Given the description of an element on the screen output the (x, y) to click on. 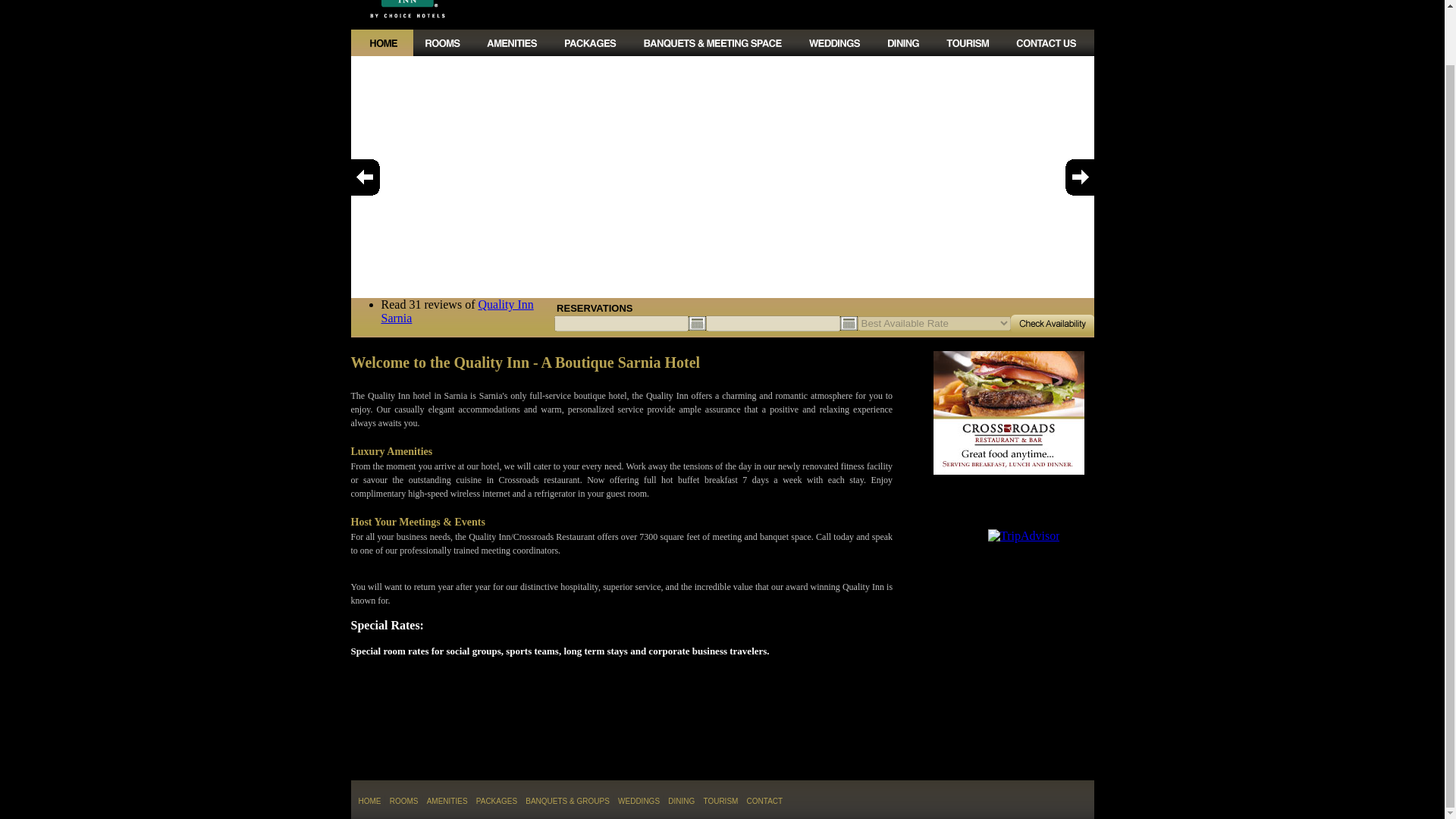
Crossroads Great Food Anytime (1008, 413)
DINING (681, 800)
AMENITIES (446, 800)
ROOMS (404, 800)
Next Image (1074, 177)
PACKAGES (496, 800)
Previous Image (369, 177)
Read 31 reviews of Quality Inn Sarnia (451, 311)
Quality Inn Sarnia (456, 311)
HOME (369, 800)
